Given the description of an element on the screen output the (x, y) to click on. 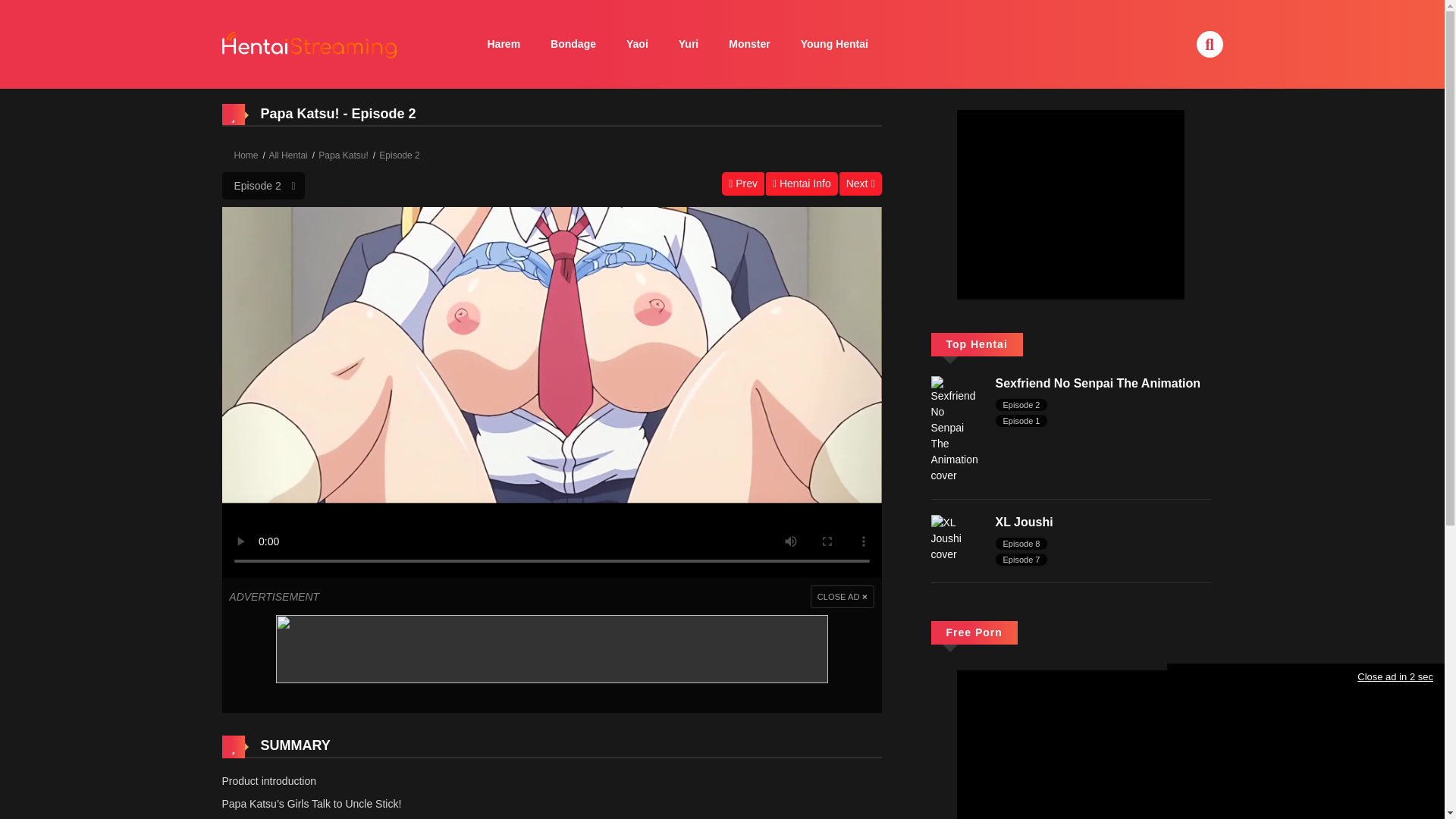
Hentai Info (801, 183)
Home (244, 154)
XL Joushi (955, 537)
Prev (743, 183)
Sexfriend No Senpai The Animation (1096, 382)
Papa Katsu! (343, 154)
Search (980, 9)
All Hentai (287, 154)
Sexfriend No Senpai The Animation (955, 428)
Next (861, 183)
